Given the description of an element on the screen output the (x, y) to click on. 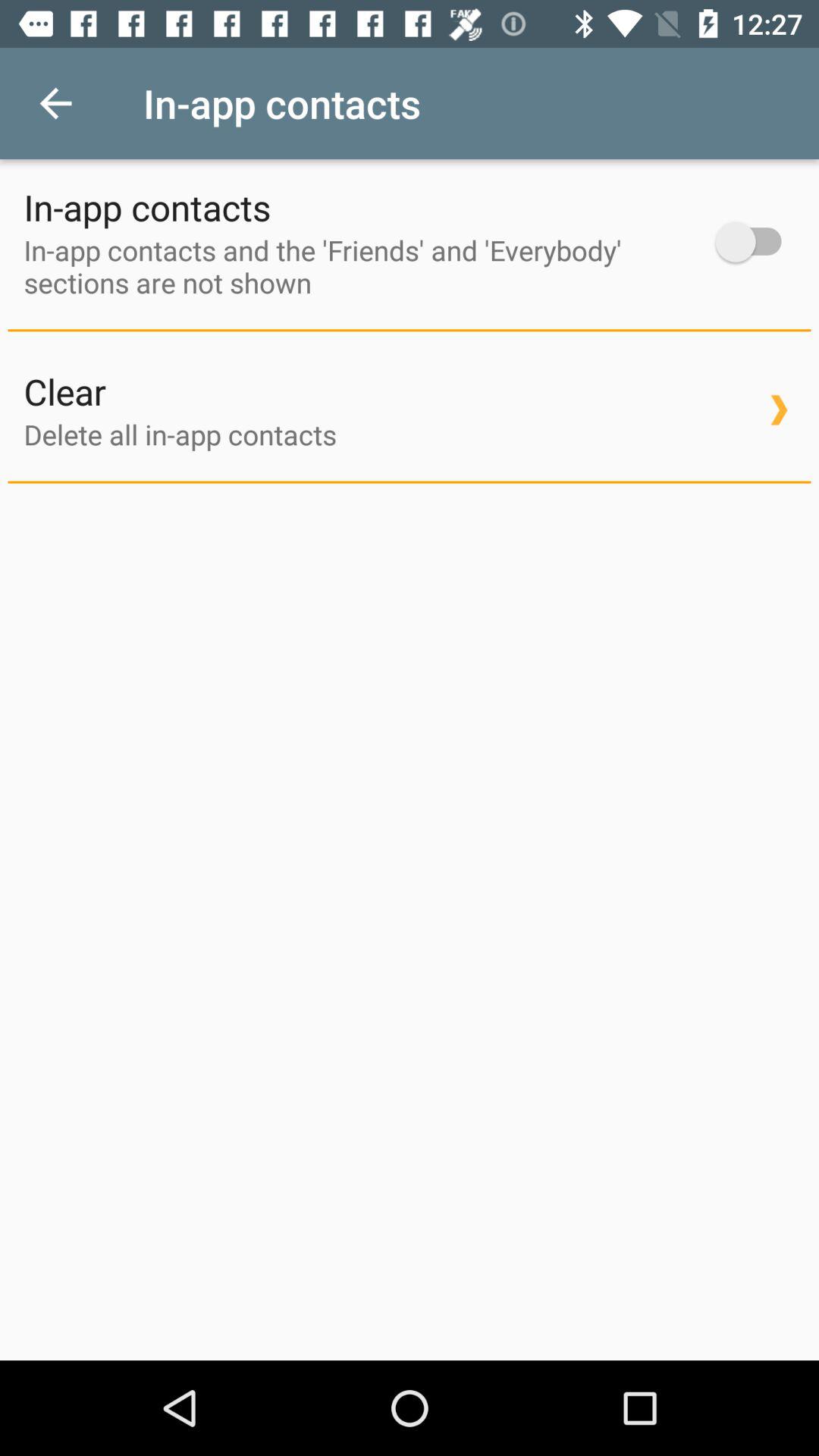
toggle in-app contacts (755, 241)
